Given the description of an element on the screen output the (x, y) to click on. 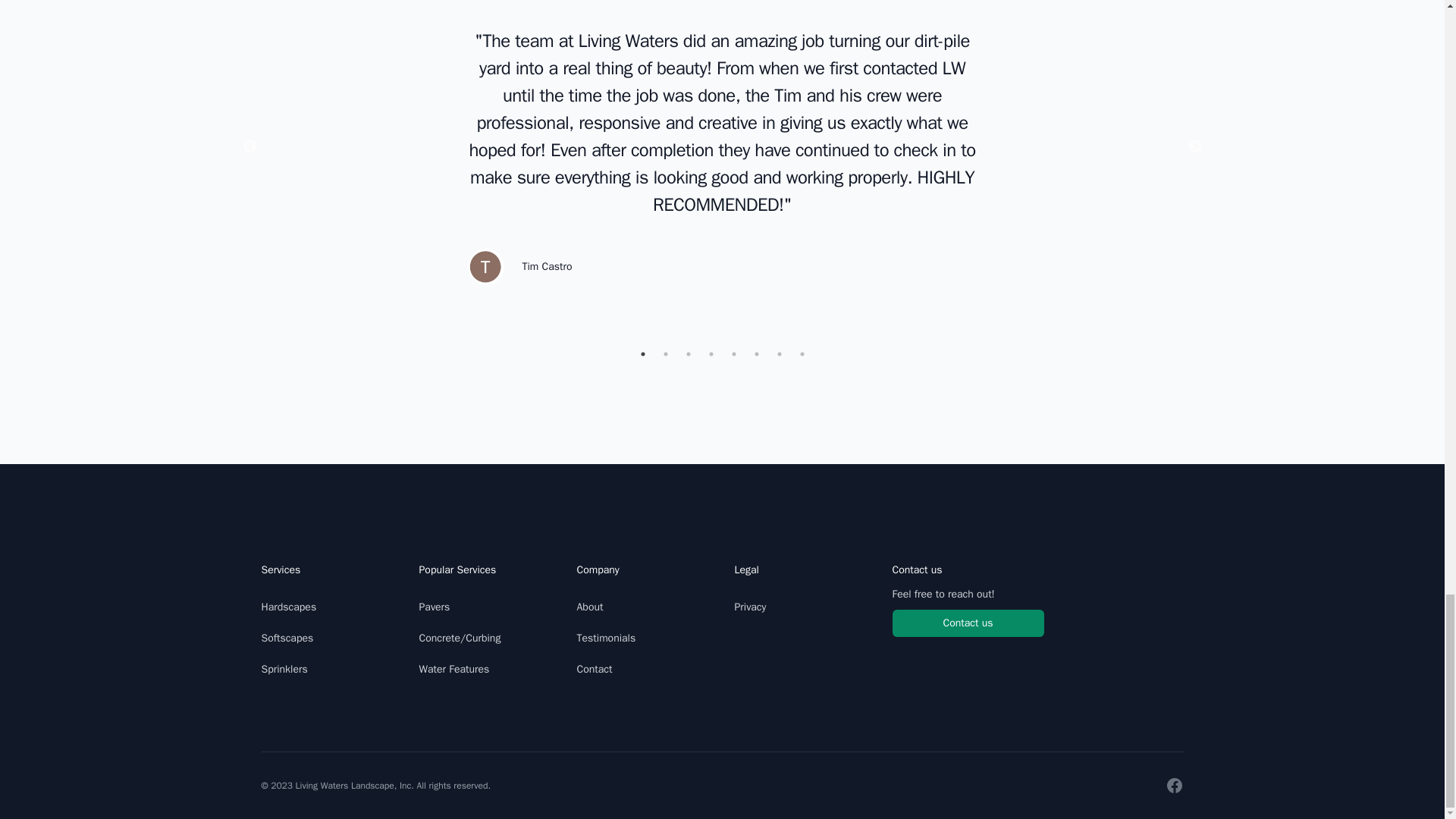
Hardscapes (287, 606)
Pavers (434, 606)
3 (688, 353)
Next (1195, 146)
Softscapes (286, 637)
Contact us (967, 623)
Water Features (454, 668)
About (589, 606)
Contact (593, 668)
7 (779, 353)
Testimonials (605, 637)
2 (665, 353)
Privacy (749, 606)
Previous (250, 146)
6 (756, 353)
